Given the description of an element on the screen output the (x, y) to click on. 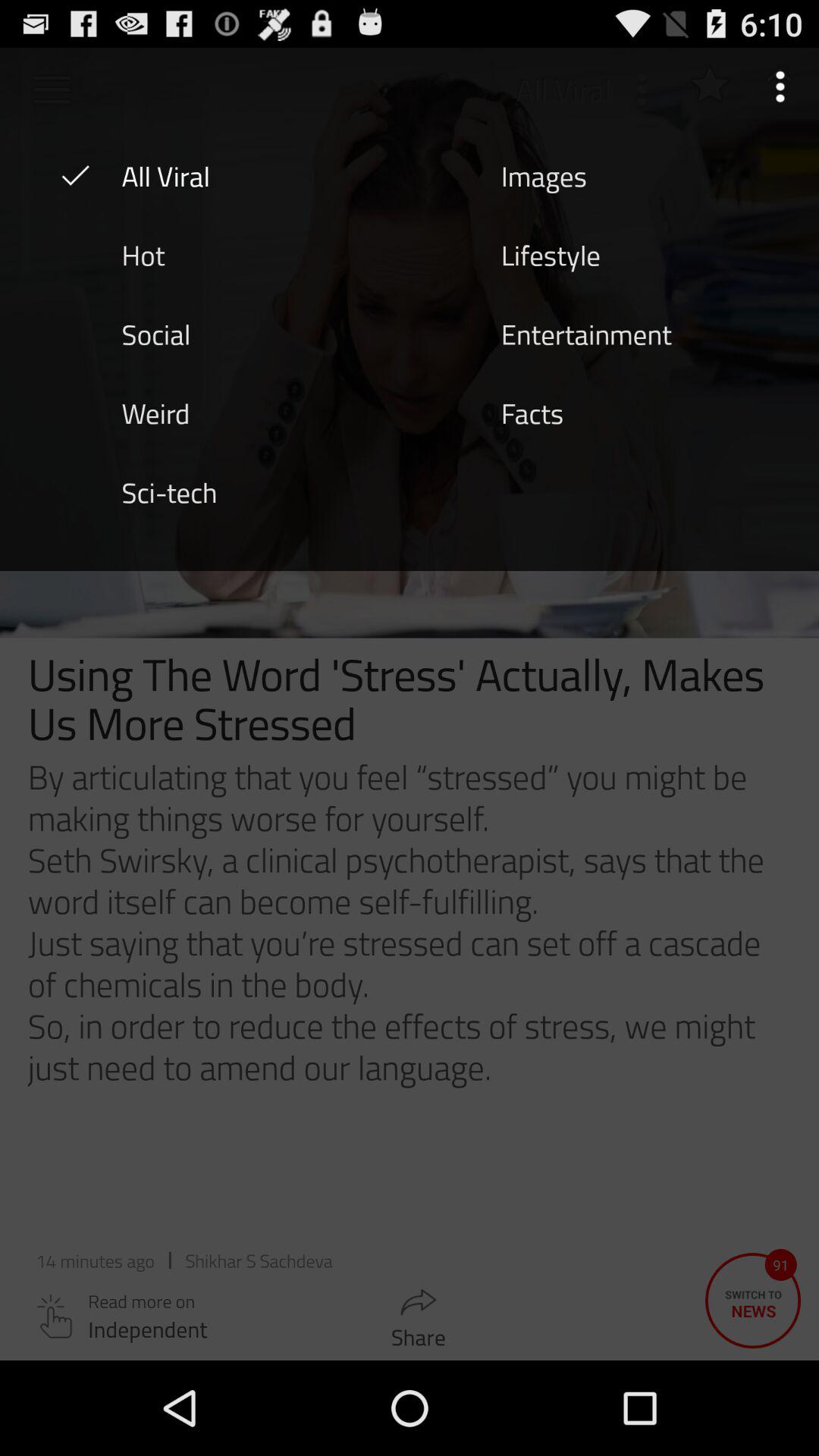
click icon to the left of the lifestyle icon (143, 253)
